Given the description of an element on the screen output the (x, y) to click on. 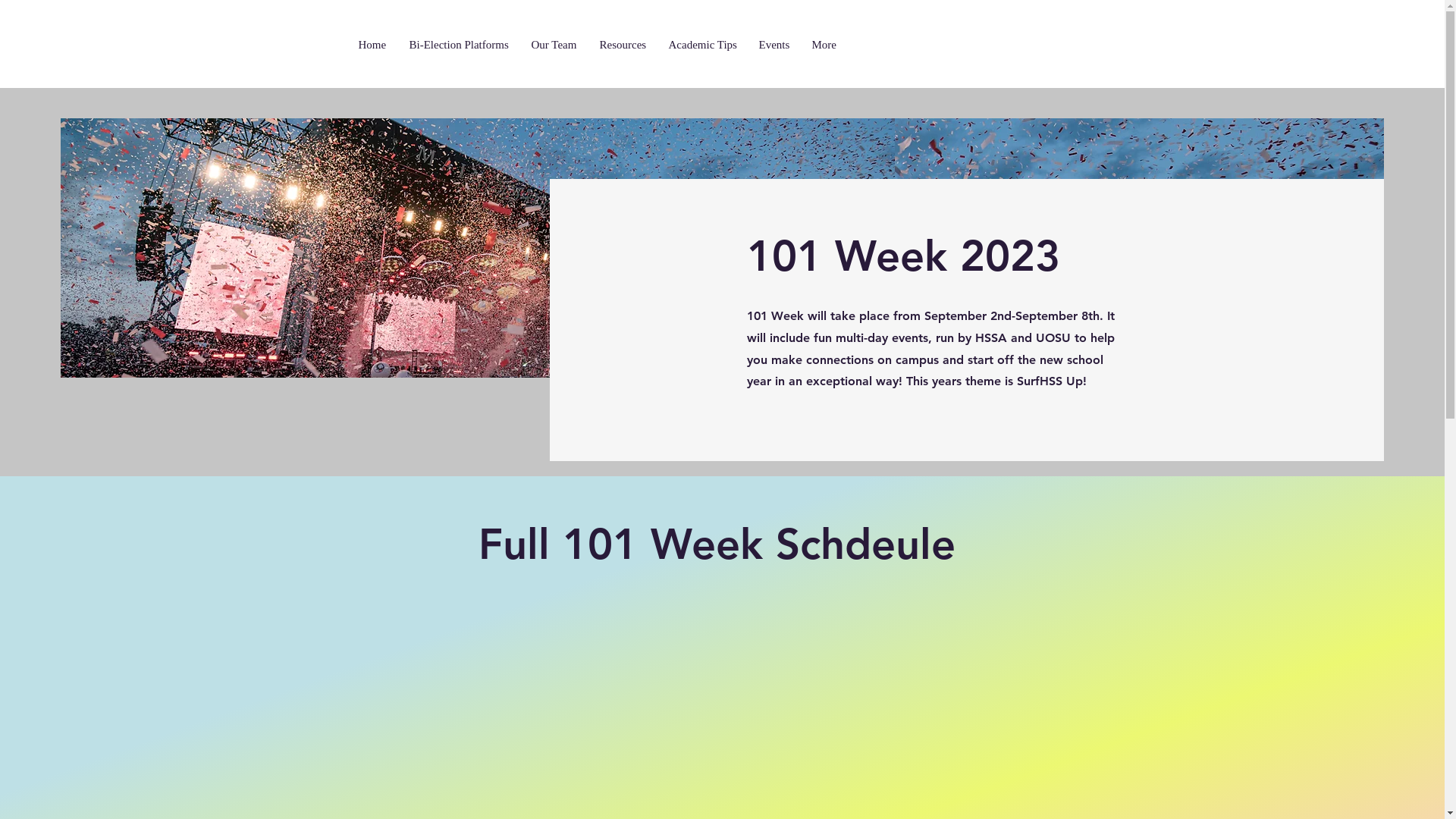
Resources Element type: text (625, 44)
Academic Tips Element type: text (706, 44)
Bi-Election Platforms Element type: text (462, 44)
Events Element type: text (776, 44)
Home Element type: text (375, 44)
Our Team Element type: text (557, 44)
